Given the description of an element on the screen output the (x, y) to click on. 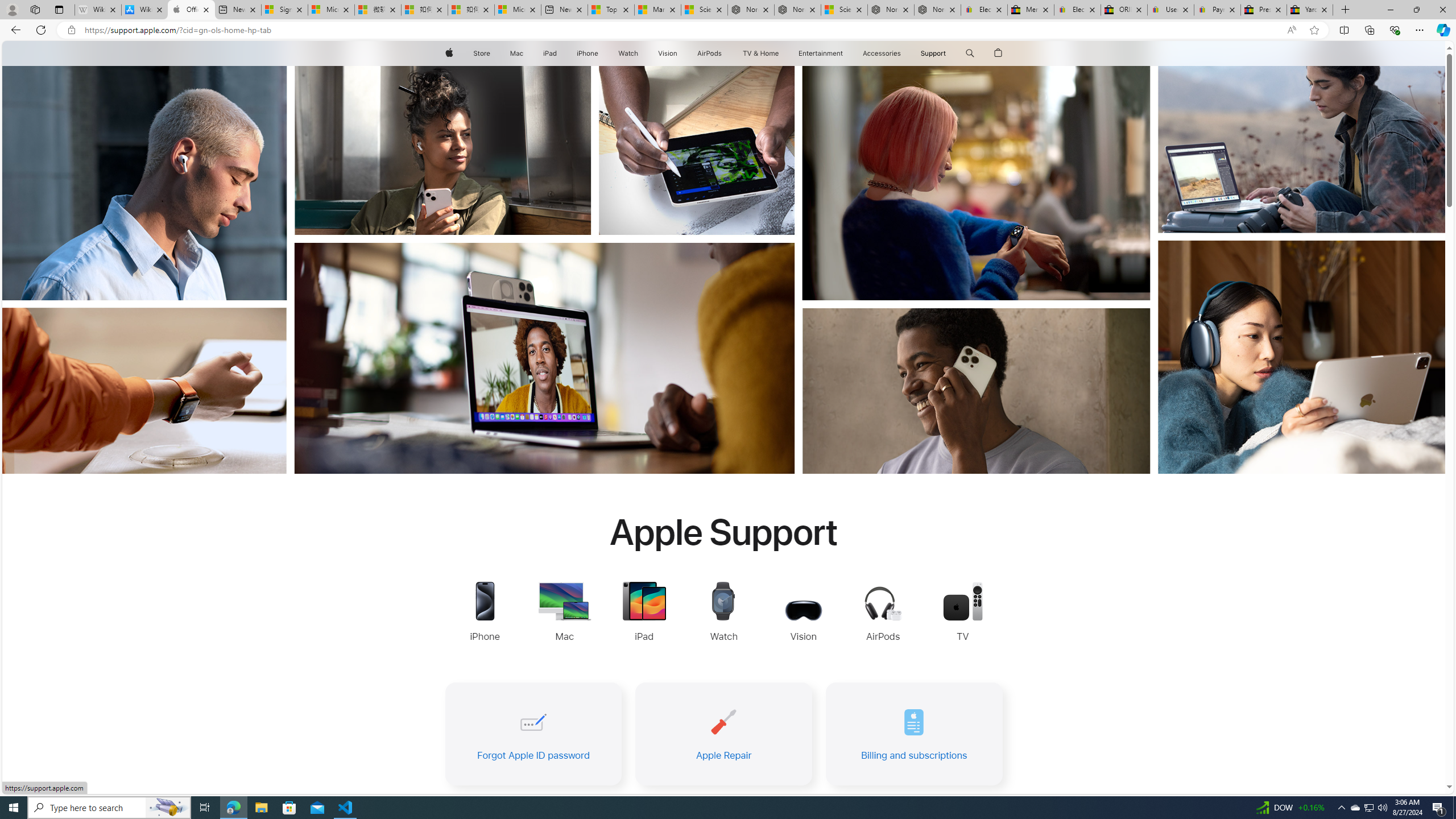
TV and Home (759, 53)
Class: globalnav-item globalnav-search shift-0-1 (969, 53)
